Given the description of an element on the screen output the (x, y) to click on. 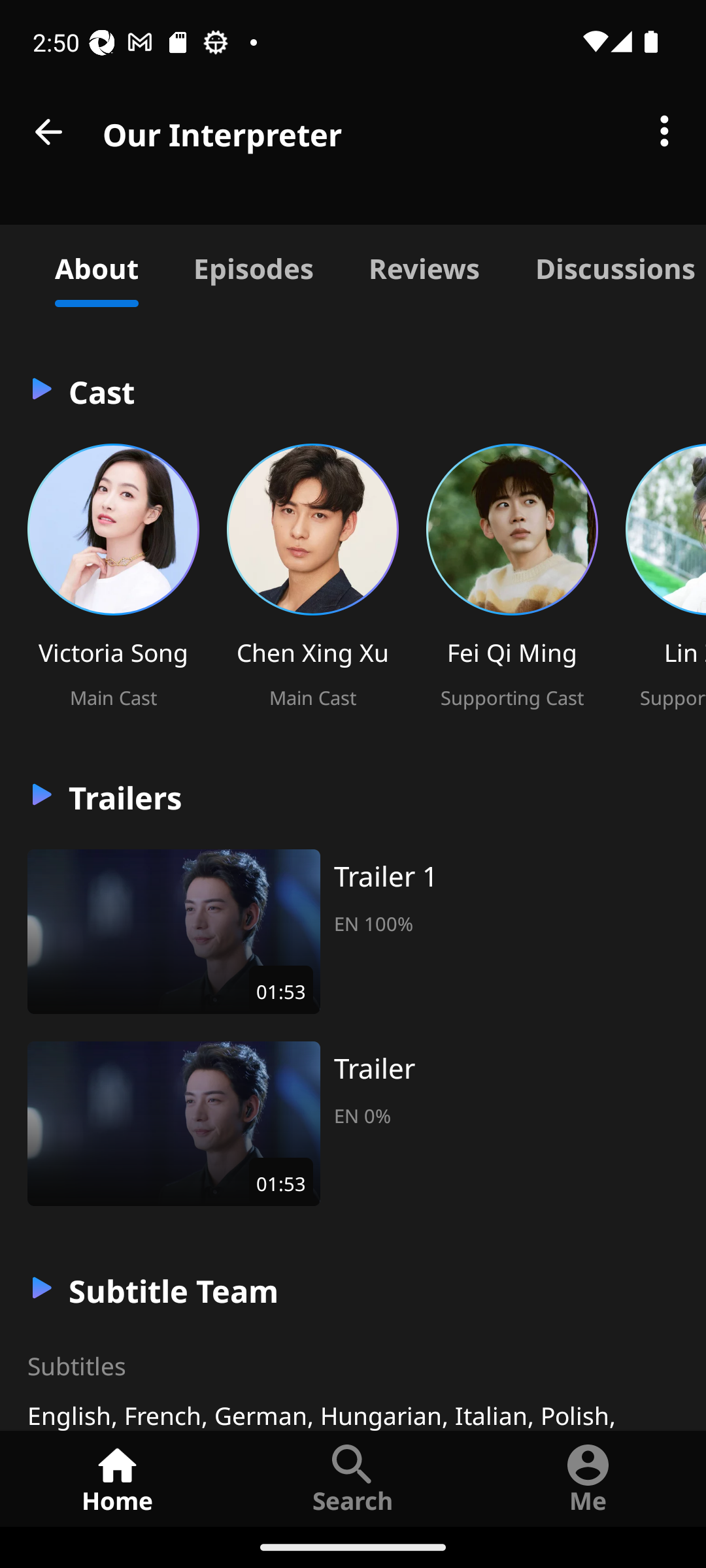
More (664, 131)
Episodes (252, 265)
Reviews (423, 265)
Discussions (606, 265)
Search (352, 1478)
Me (588, 1478)
